Given the description of an element on the screen output the (x, y) to click on. 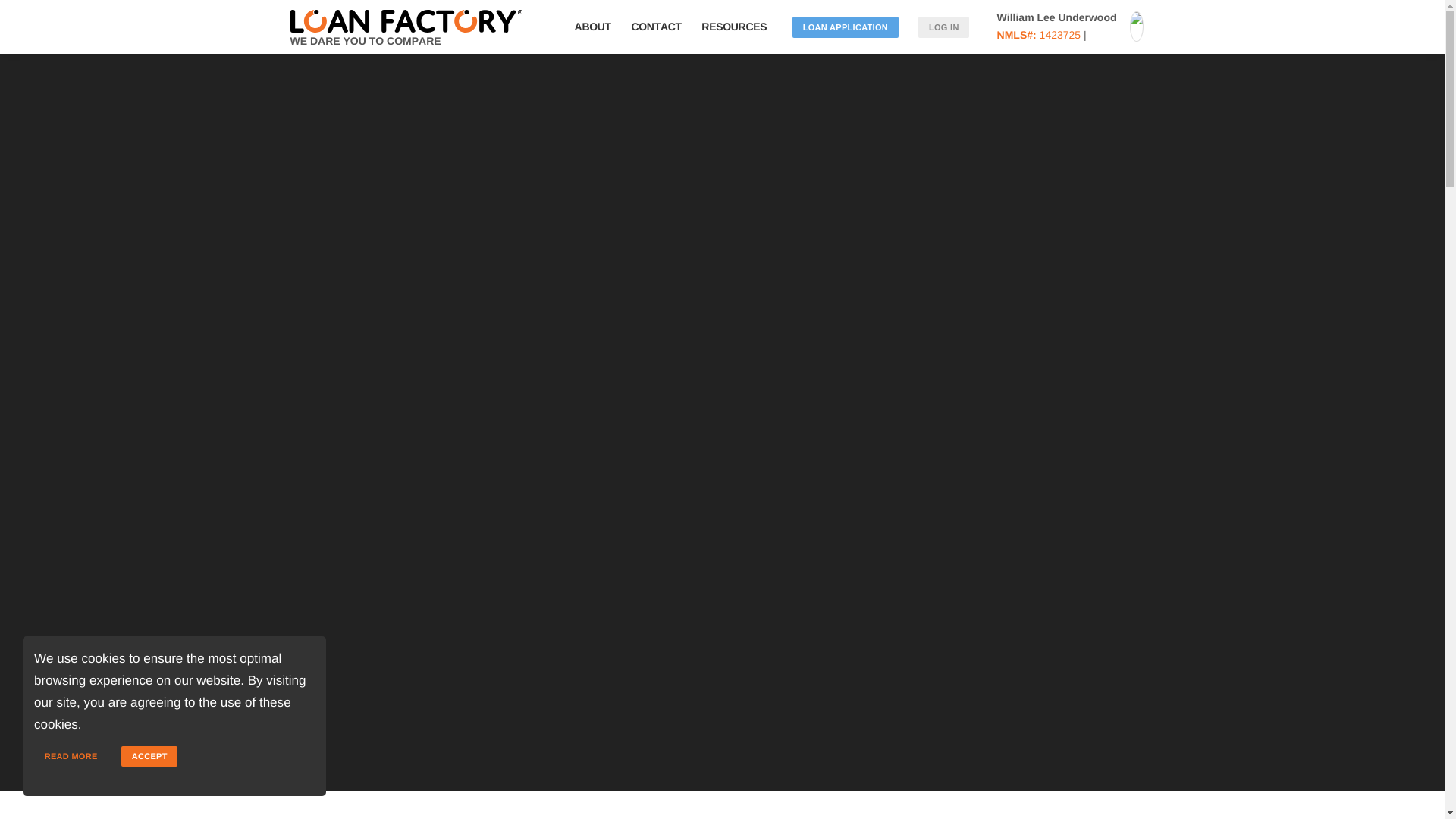
LOAN APPLICATION (845, 26)
LOG IN (943, 26)
LOG IN (943, 27)
RESOURCES   (737, 27)
ABOUT (592, 27)
LOAN APPLICATION (845, 27)
CONTACT (655, 27)
